Given the description of an element on the screen output the (x, y) to click on. 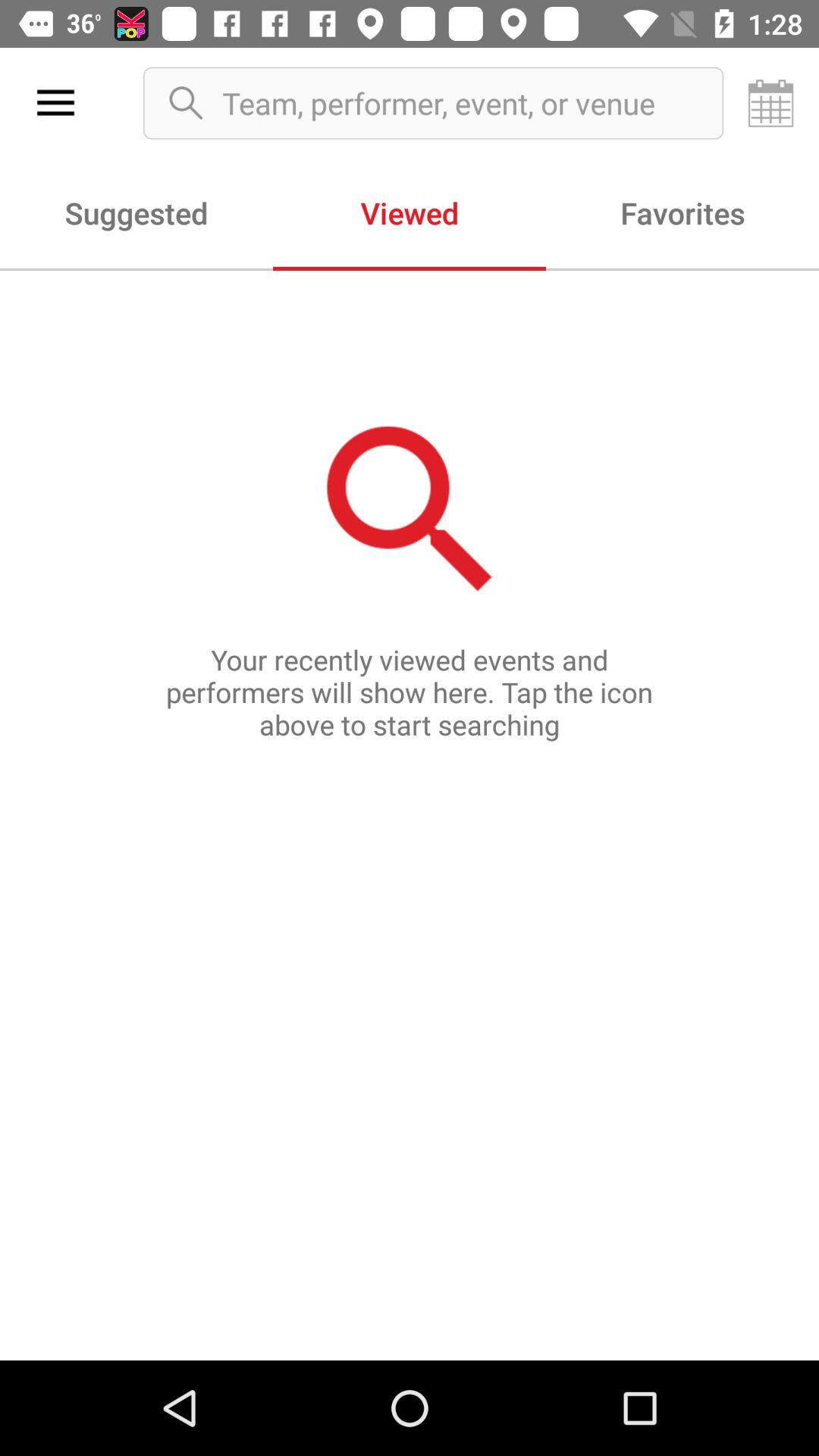
turn off the icon above favorites item (771, 103)
